Given the description of an element on the screen output the (x, y) to click on. 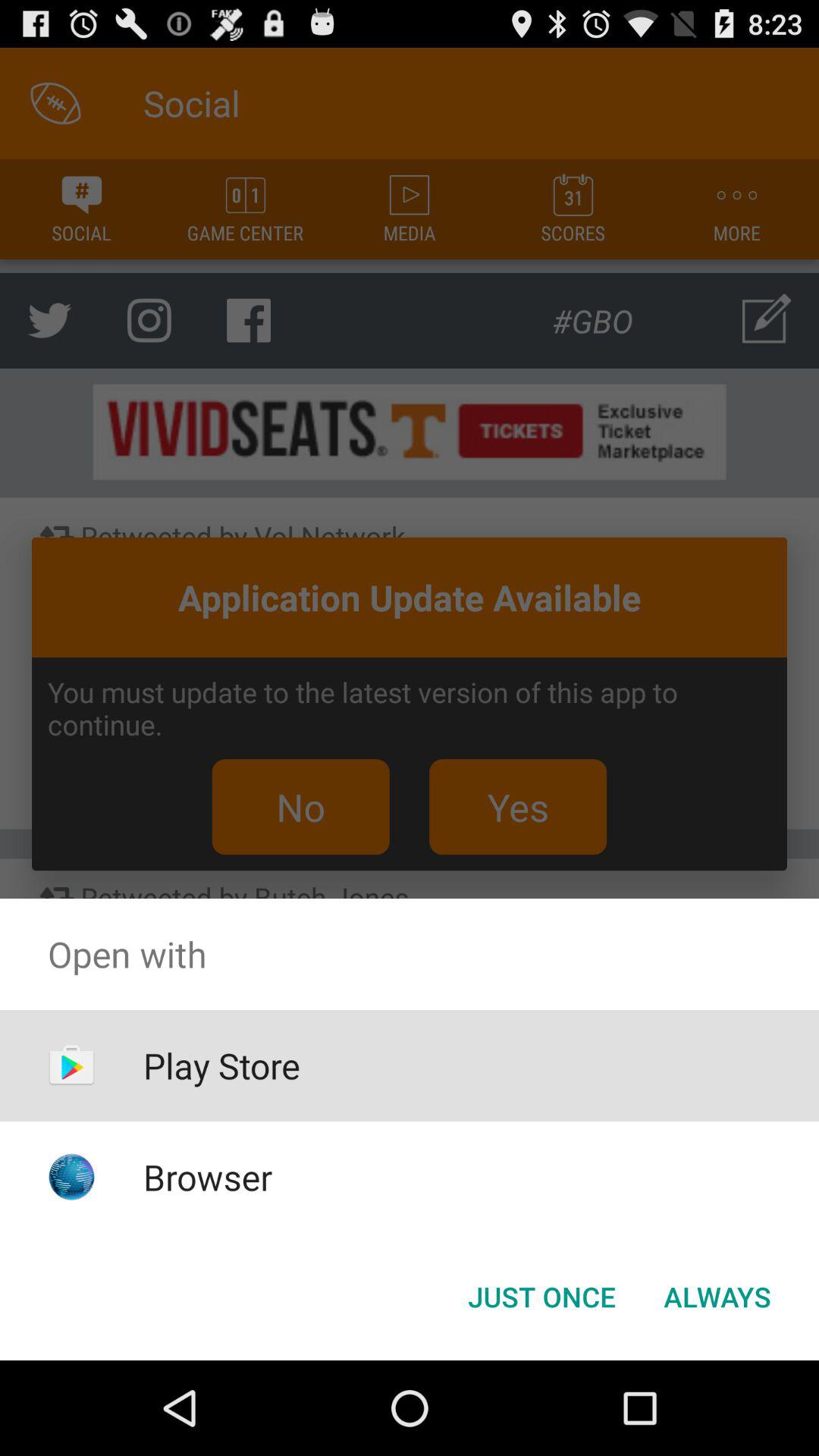
tap play store app (221, 1065)
